Given the description of an element on the screen output the (x, y) to click on. 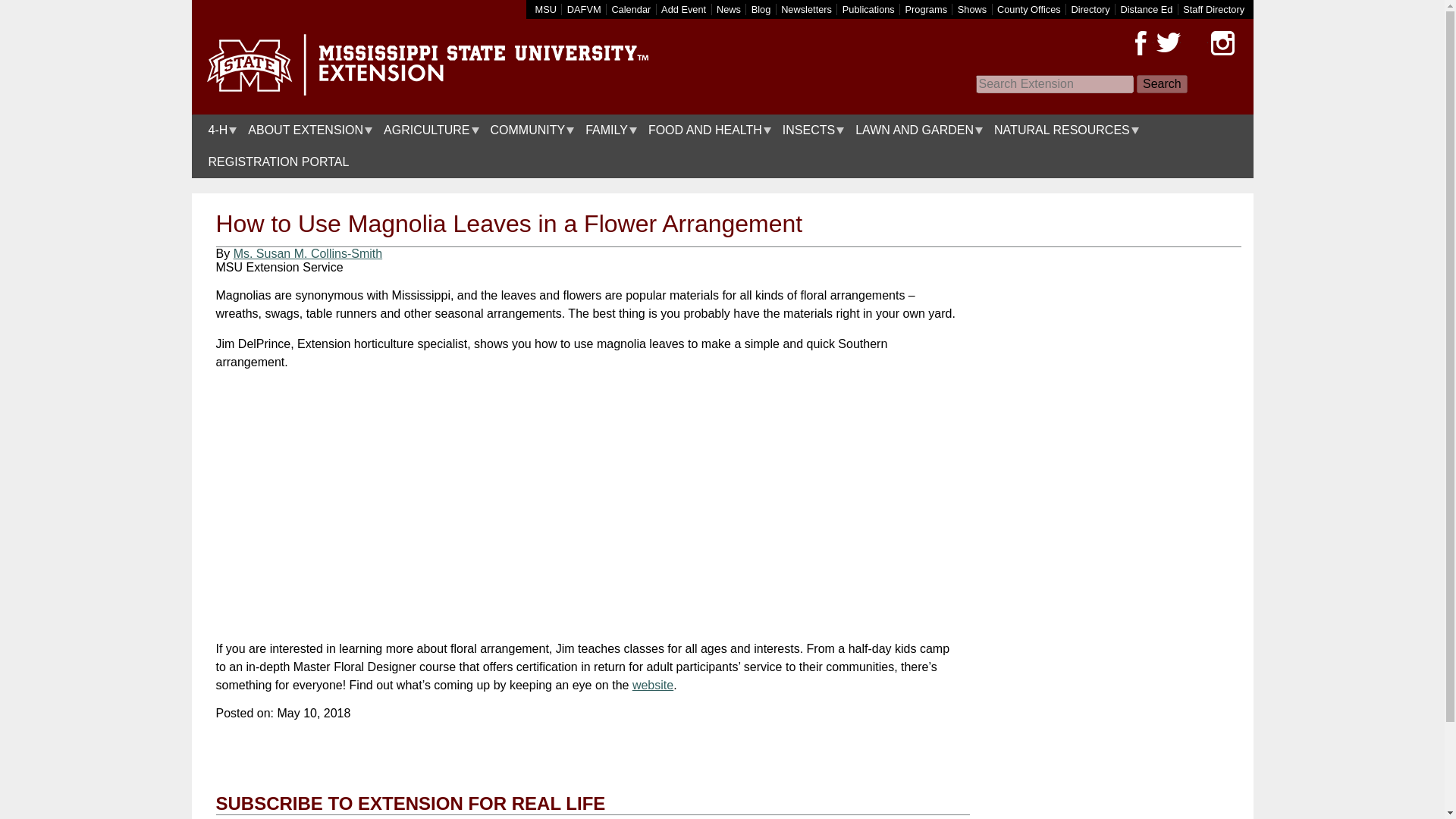
News (728, 9)
Twitter (1167, 43)
Shows (972, 9)
Find a county extension office (1029, 9)
Pinterest (1194, 43)
MSU (545, 9)
